Given the description of an element on the screen output the (x, y) to click on. 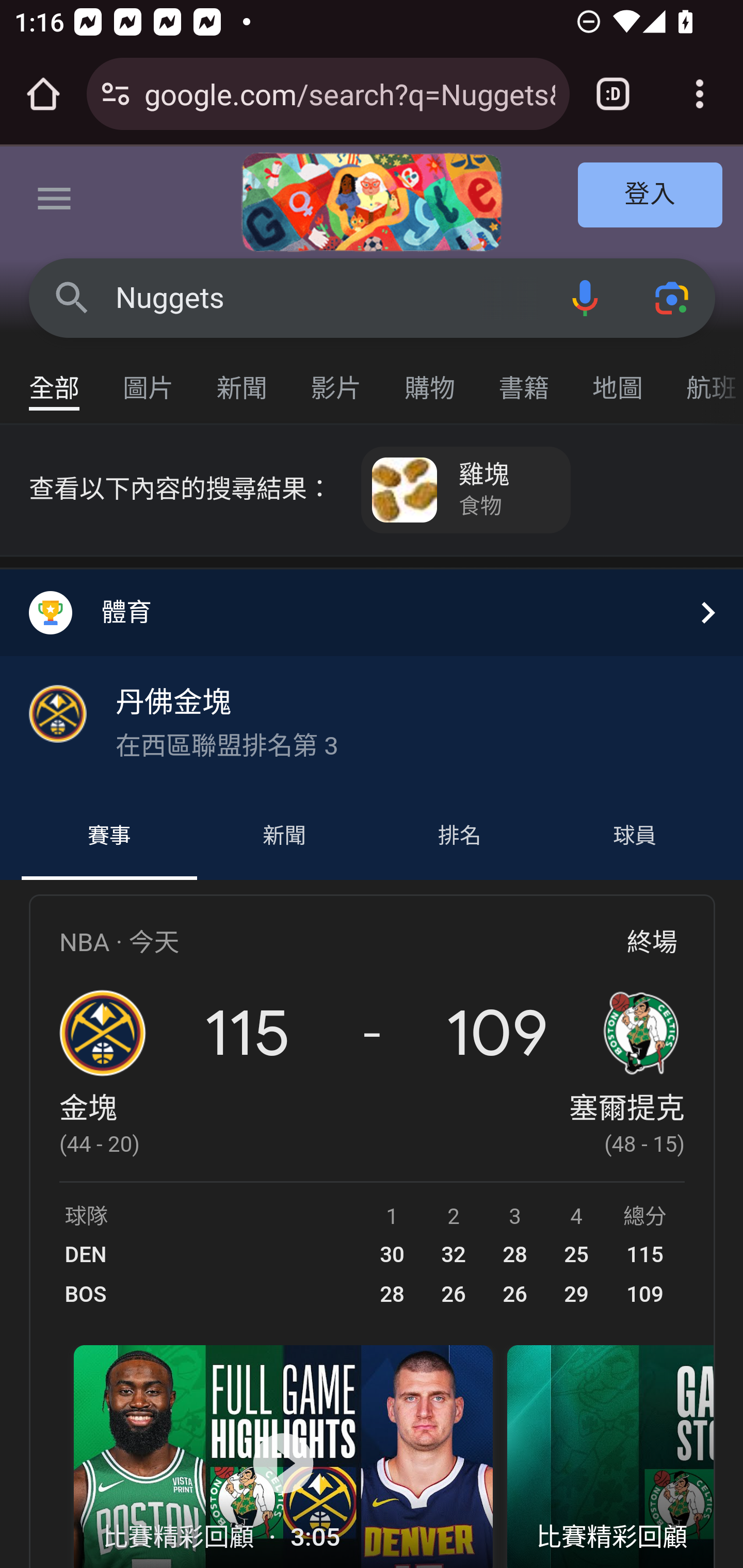
Open the home page (43, 93)
Connection is secure (115, 93)
Switch or close tabs (612, 93)
Customize and control Google Chrome (699, 93)
2024 年國際婦女節 (371, 202)
主選單 (54, 202)
登入 (650, 195)
Google 搜尋 (71, 296)
使用相機或相片搜尋 (672, 296)
Nuggets (328, 297)
圖片 (148, 378)
新聞 (242, 378)
影片 (336, 378)
購物 (430, 378)
書籍 (524, 378)
地圖 (618, 378)
航班 (703, 378)
雞塊 食物 雞塊 食物 (466, 489)
體育 丹佛金塊 在西區聯盟排名第 3 體育 丹佛金塊 在西區聯盟排名第 3 (371, 680)
體育 (371, 611)
賽事 (109, 836)
新聞 (283, 836)
排名 (460, 836)
球員 (634, 836)
